Given the description of an element on the screen output the (x, y) to click on. 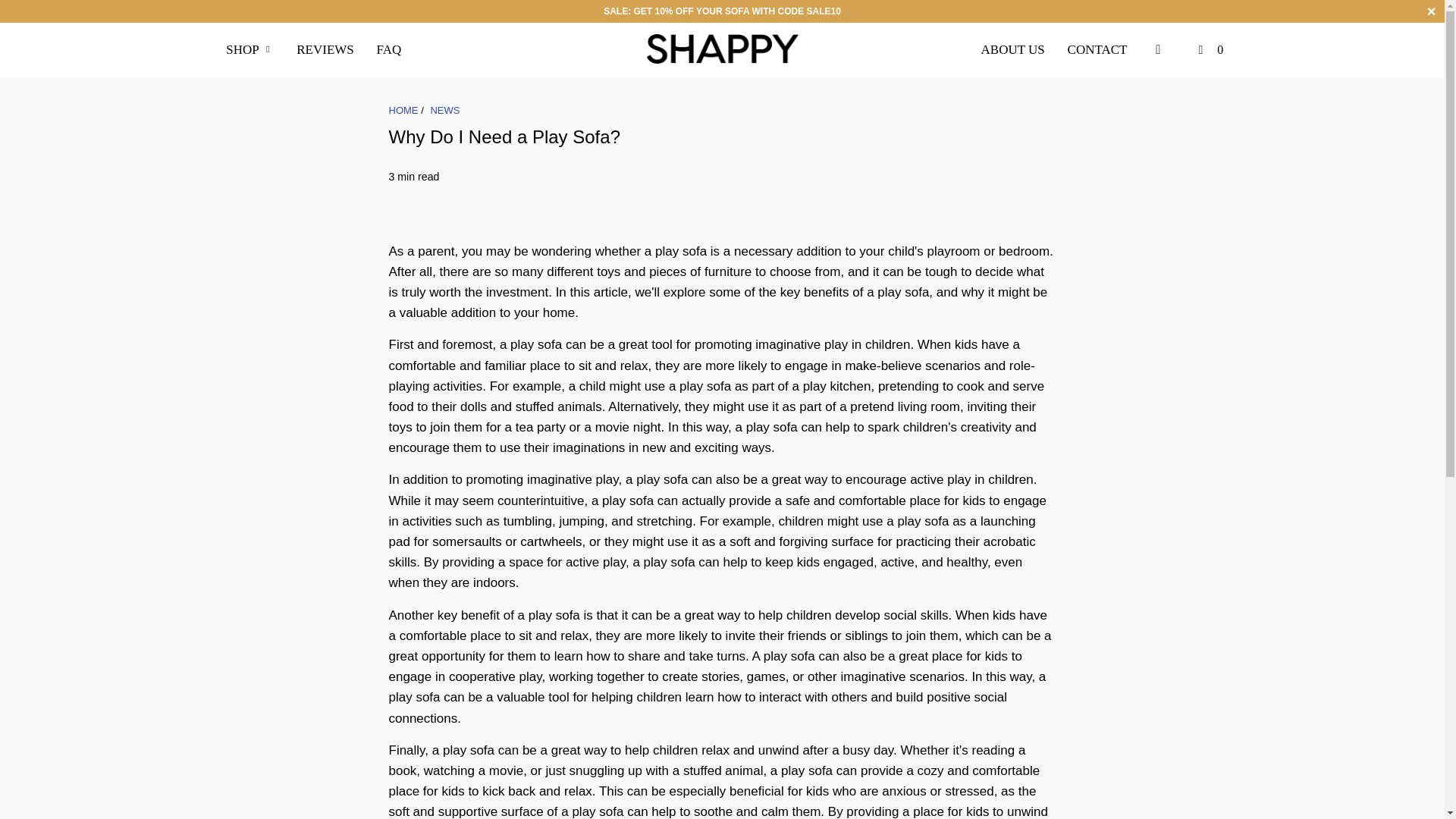
FAQ (389, 49)
ABOUT US (1013, 49)
CONTACT (1096, 49)
SHAPPY Play Sofa (402, 110)
REVIEWS (325, 49)
My Account  (1158, 49)
SHOP (249, 49)
News (444, 110)
SHAPPY Play Sofa (721, 50)
